Given the description of an element on the screen output the (x, y) to click on. 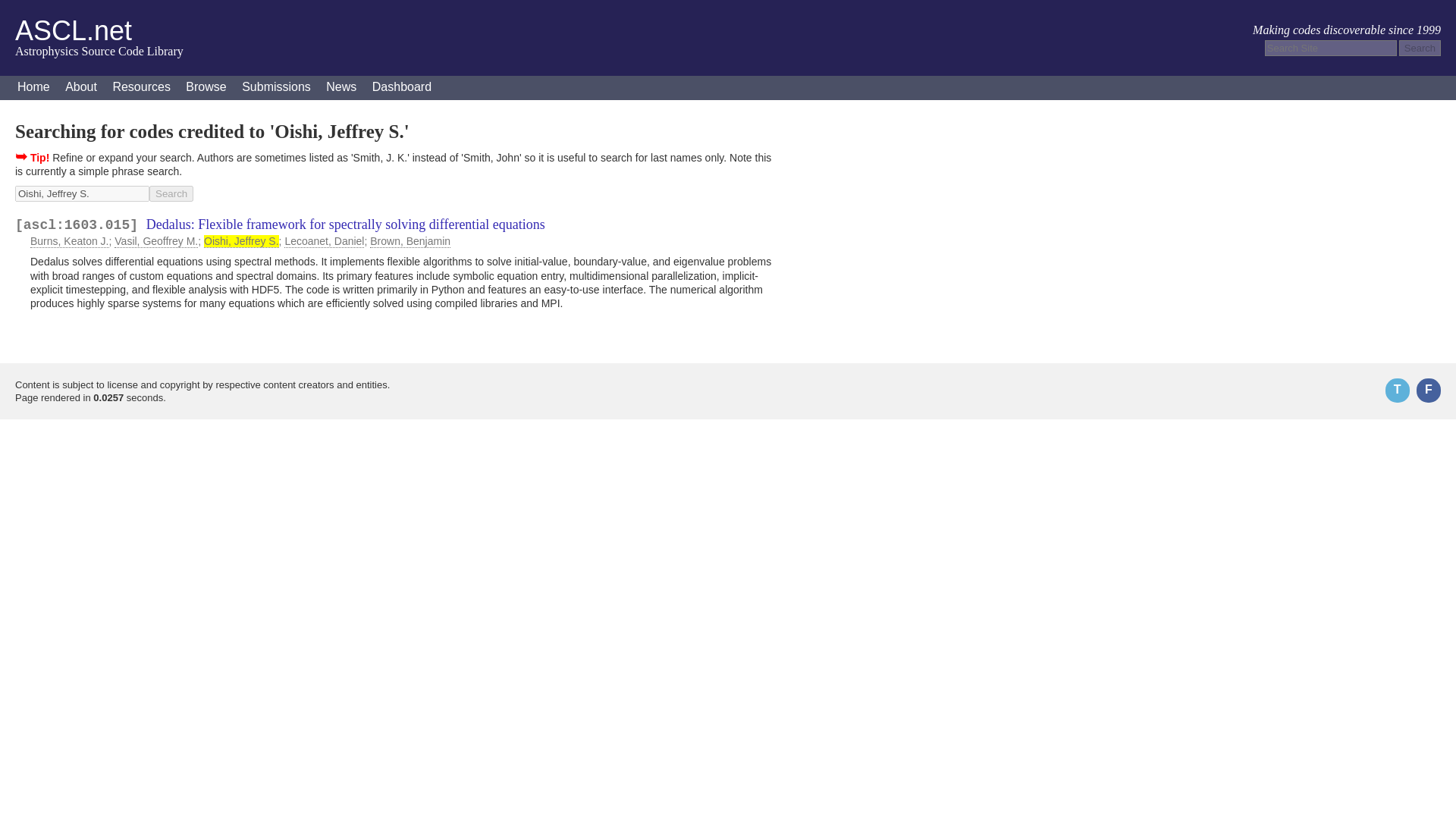
Search (1420, 48)
Like ASCL on Facebook (1428, 390)
Brown, Benjamin (409, 241)
Oishi, Jeffrey S. (81, 193)
Follow ASCL on Twitter (1397, 390)
Search (171, 193)
Resources (141, 87)
Search (1420, 48)
T (1397, 390)
Browse (205, 87)
Burns, Keaton J. (69, 241)
Home (33, 87)
About (81, 87)
Vasil, Geoffrey M. (156, 241)
